Given the description of an element on the screen output the (x, y) to click on. 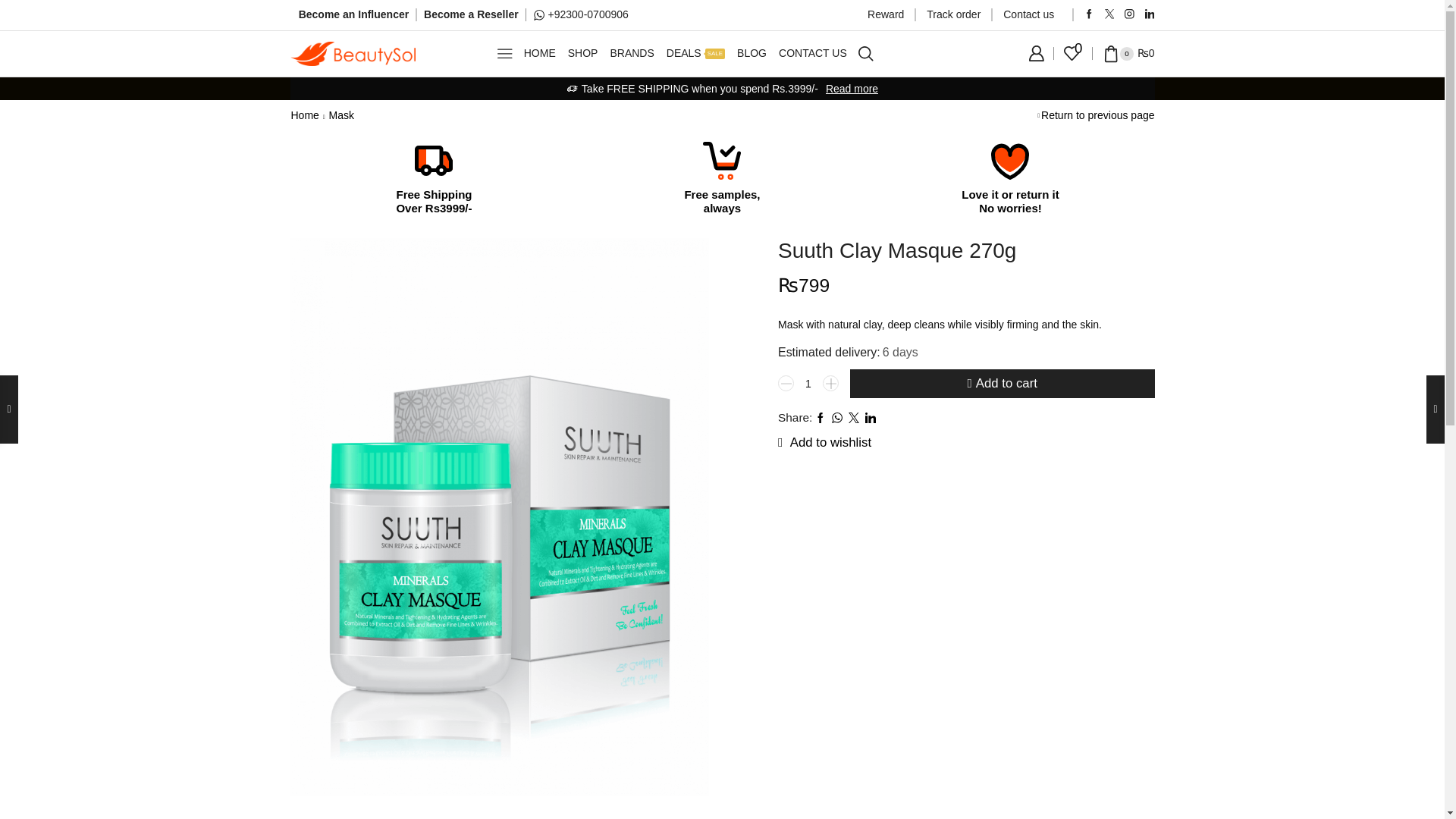
Facebook (1089, 14)
Twitter (1110, 14)
Contact us (1028, 14)
Track order (952, 14)
Become an Influencer (353, 14)
Instagram (1129, 14)
1 (807, 383)
Become a Reseller (470, 14)
Reward (885, 14)
Linkedin (1149, 14)
